Given the description of an element on the screen output the (x, y) to click on. 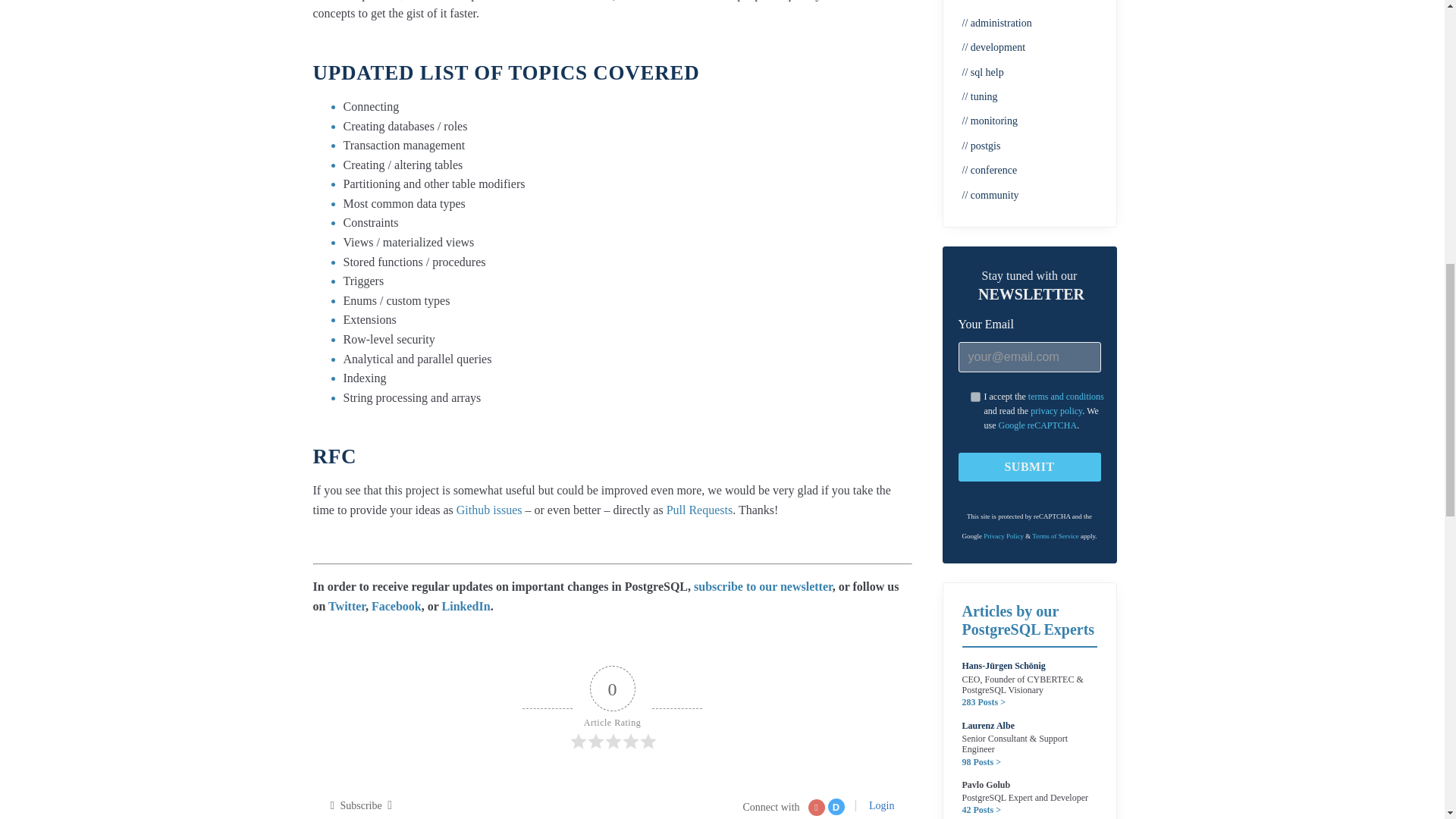
Submit (1029, 466)
